Given the description of an element on the screen output the (x, y) to click on. 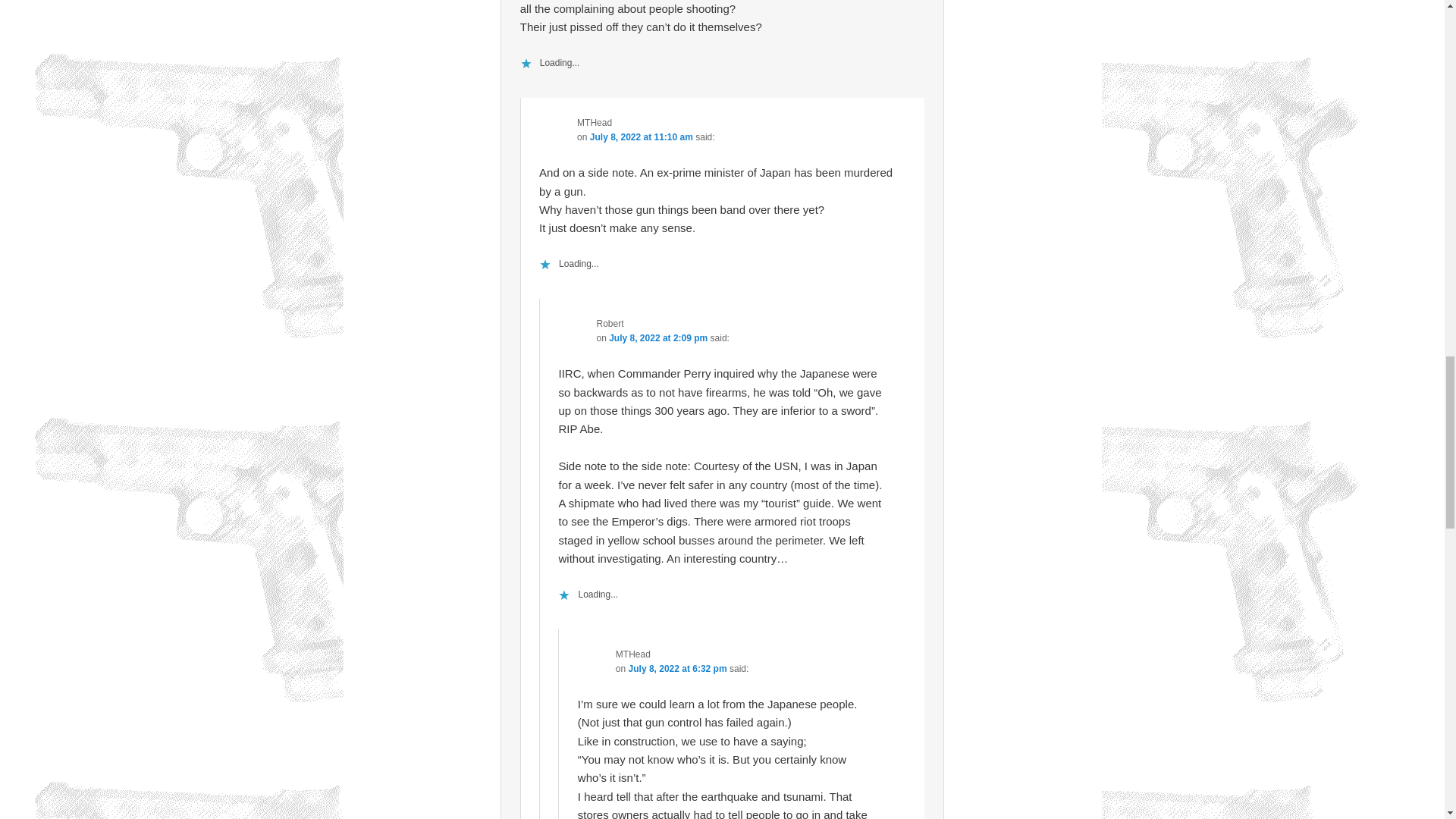
July 8, 2022 at 11:10 am (641, 136)
